Given the description of an element on the screen output the (x, y) to click on. 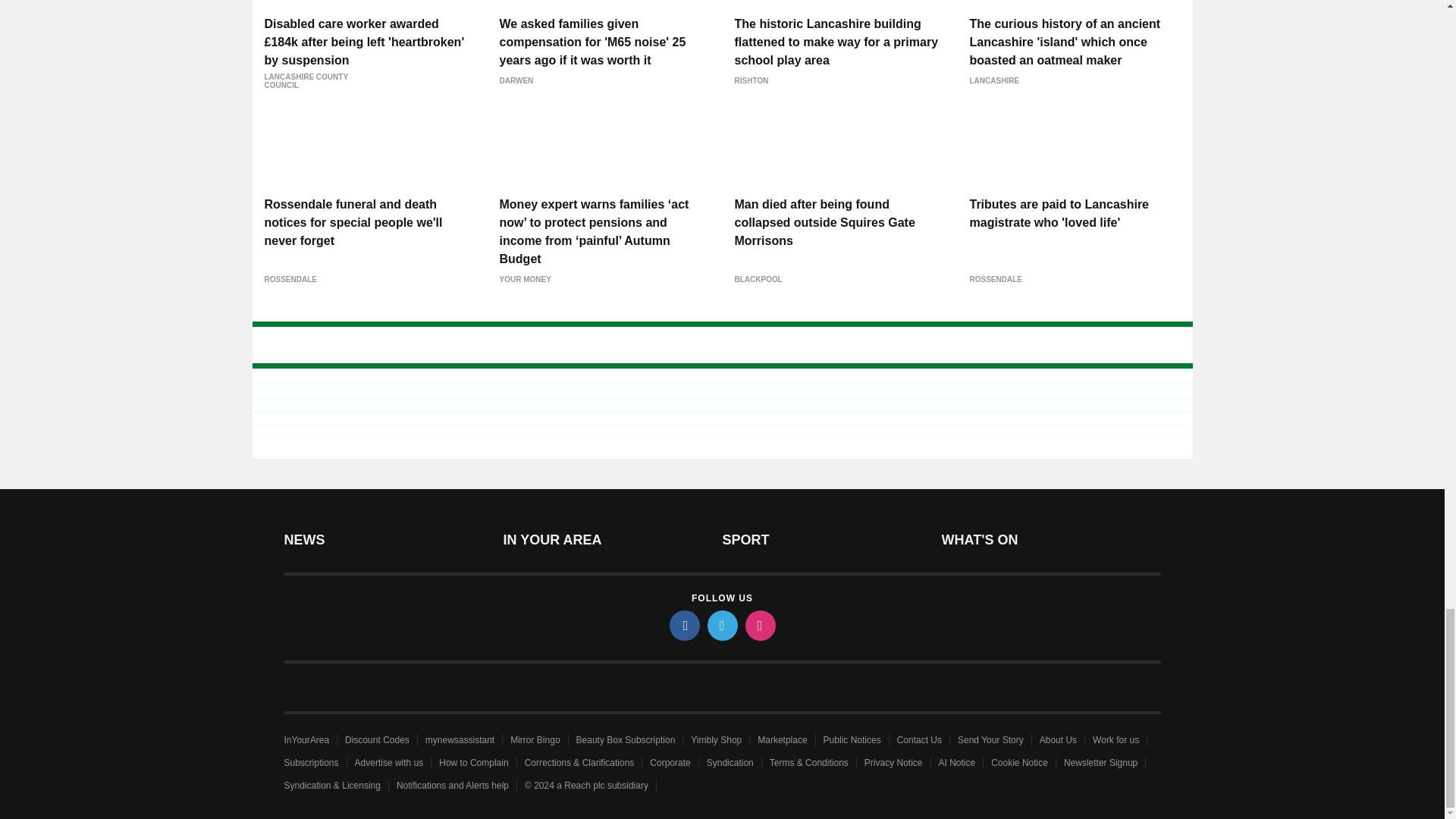
facebook (683, 625)
twitter (721, 625)
instagram (759, 625)
